Given the description of an element on the screen output the (x, y) to click on. 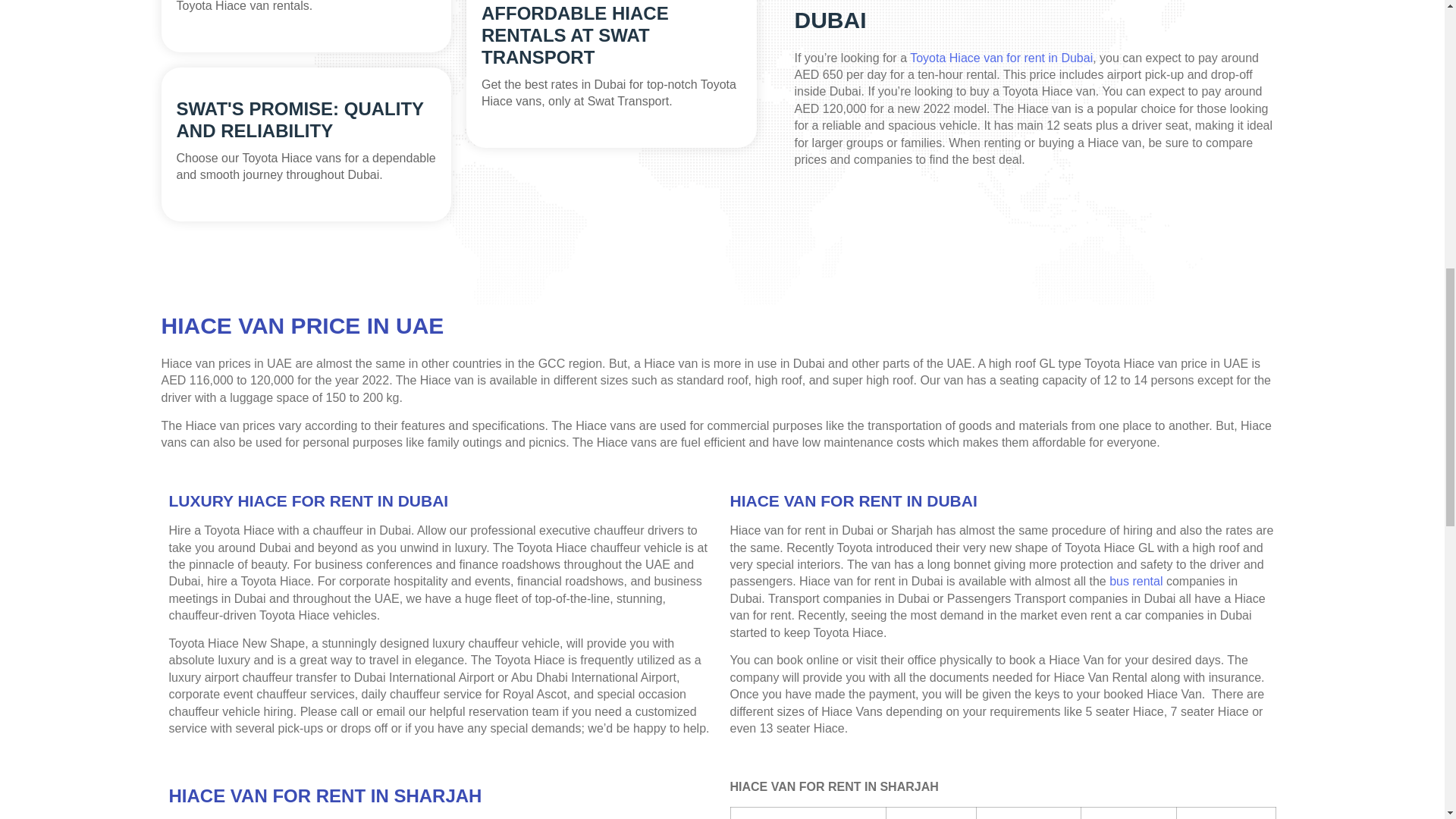
bus rental (1135, 581)
Toyota Hiace van for rent in Dubai (1001, 57)
